Given the description of an element on the screen output the (x, y) to click on. 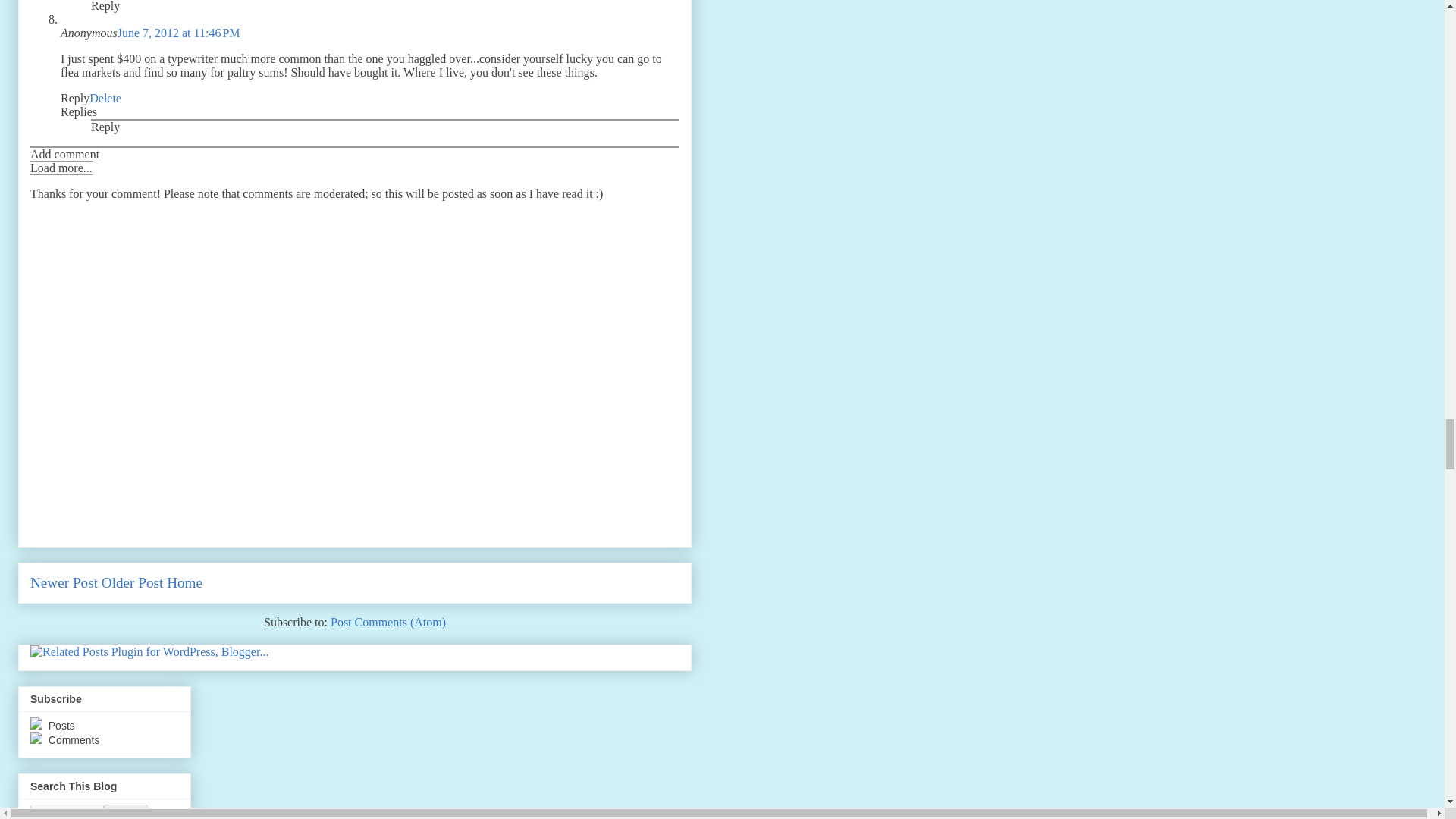
Search (125, 811)
Older Post (132, 582)
search (125, 811)
Newer Post (63, 582)
search (66, 811)
Search (125, 811)
